Given the description of an element on the screen output the (x, y) to click on. 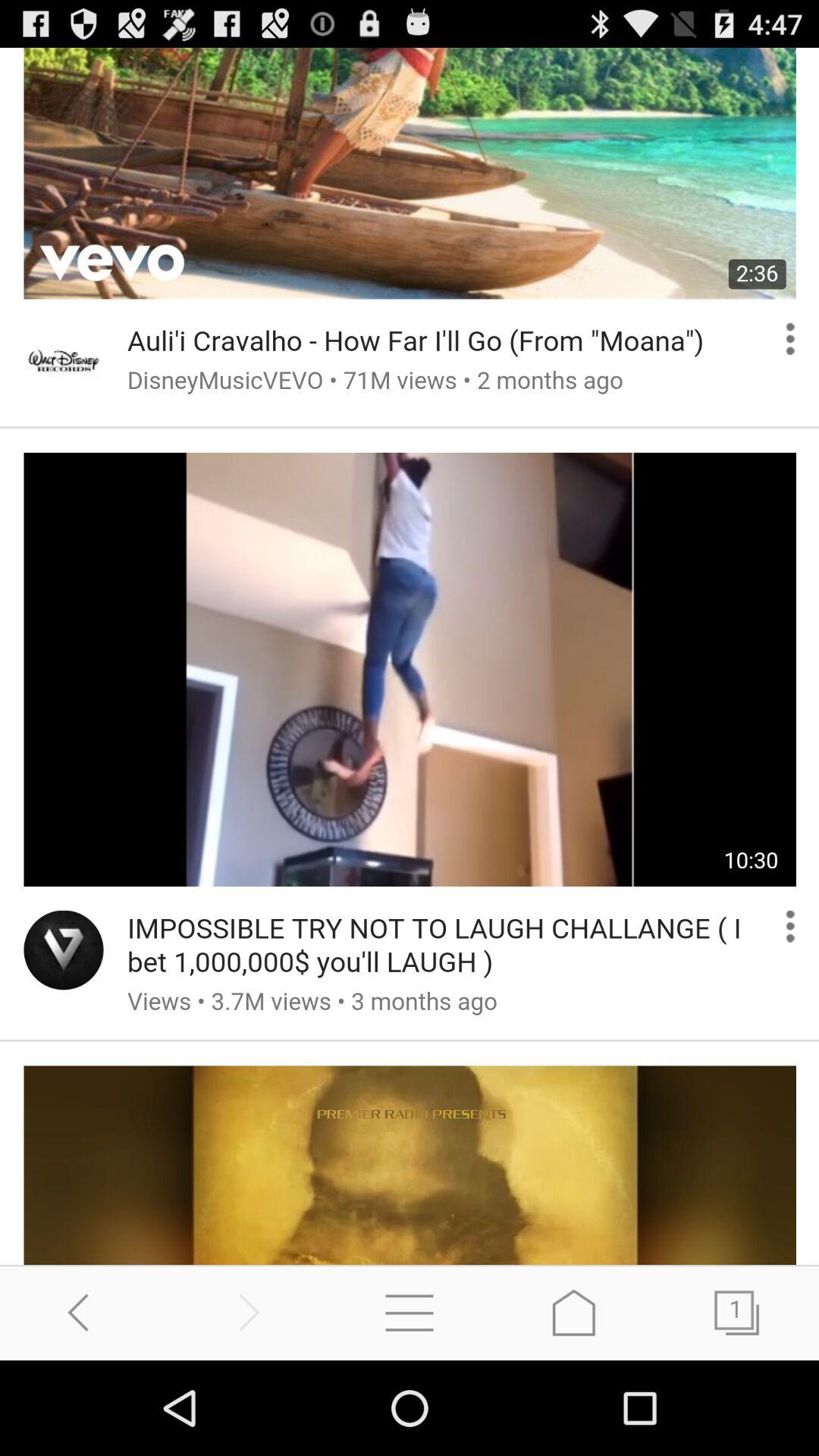
go back (81, 1312)
